Given the description of an element on the screen output the (x, y) to click on. 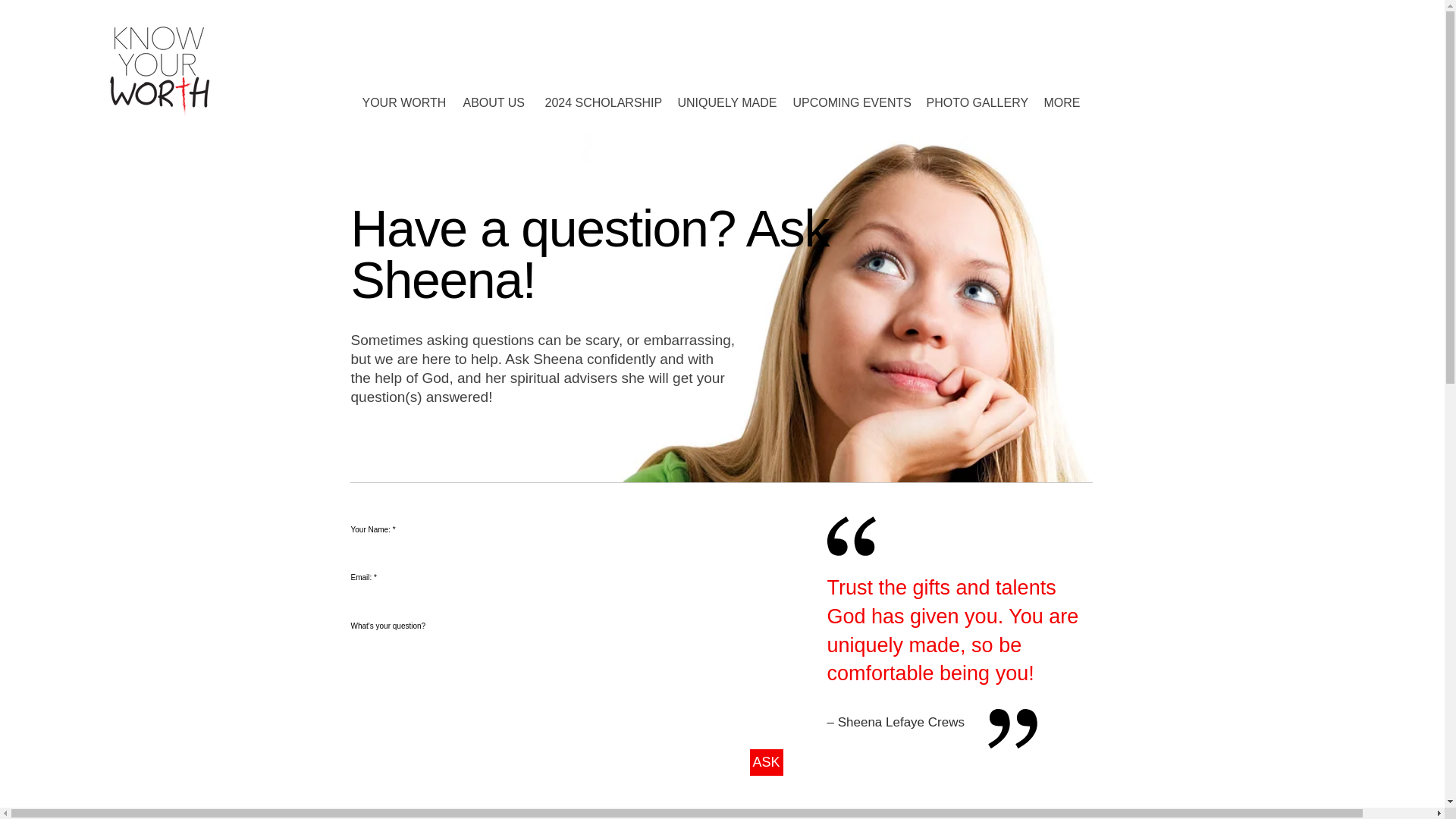
2024 SCHOLARSHIP (600, 102)
YOUR WORTH (400, 102)
ASK (766, 762)
PHOTO GALLERY (973, 102)
Have a question? Ask Sheena! (589, 253)
ABOUT US (492, 102)
UNIQUELY MADE (722, 102)
UPCOMING EVENTS (847, 102)
